Given the description of an element on the screen output the (x, y) to click on. 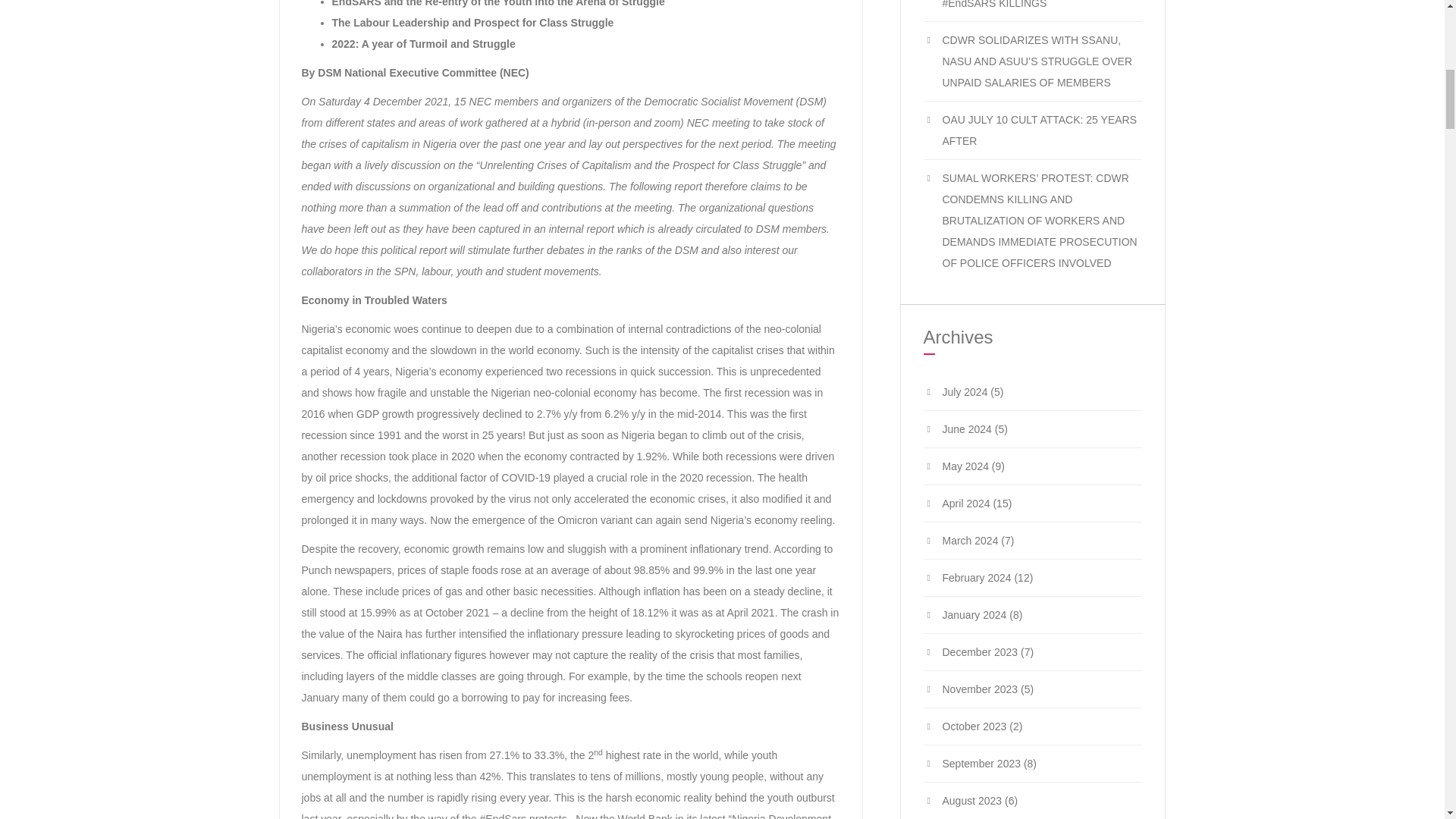
OAU JULY 10 CULT ATTACK: 25 YEARS AFTER (1039, 130)
June 2024 (966, 428)
July 2024 (964, 391)
April 2024 (966, 503)
May 2024 (965, 466)
